Given the description of an element on the screen output the (x, y) to click on. 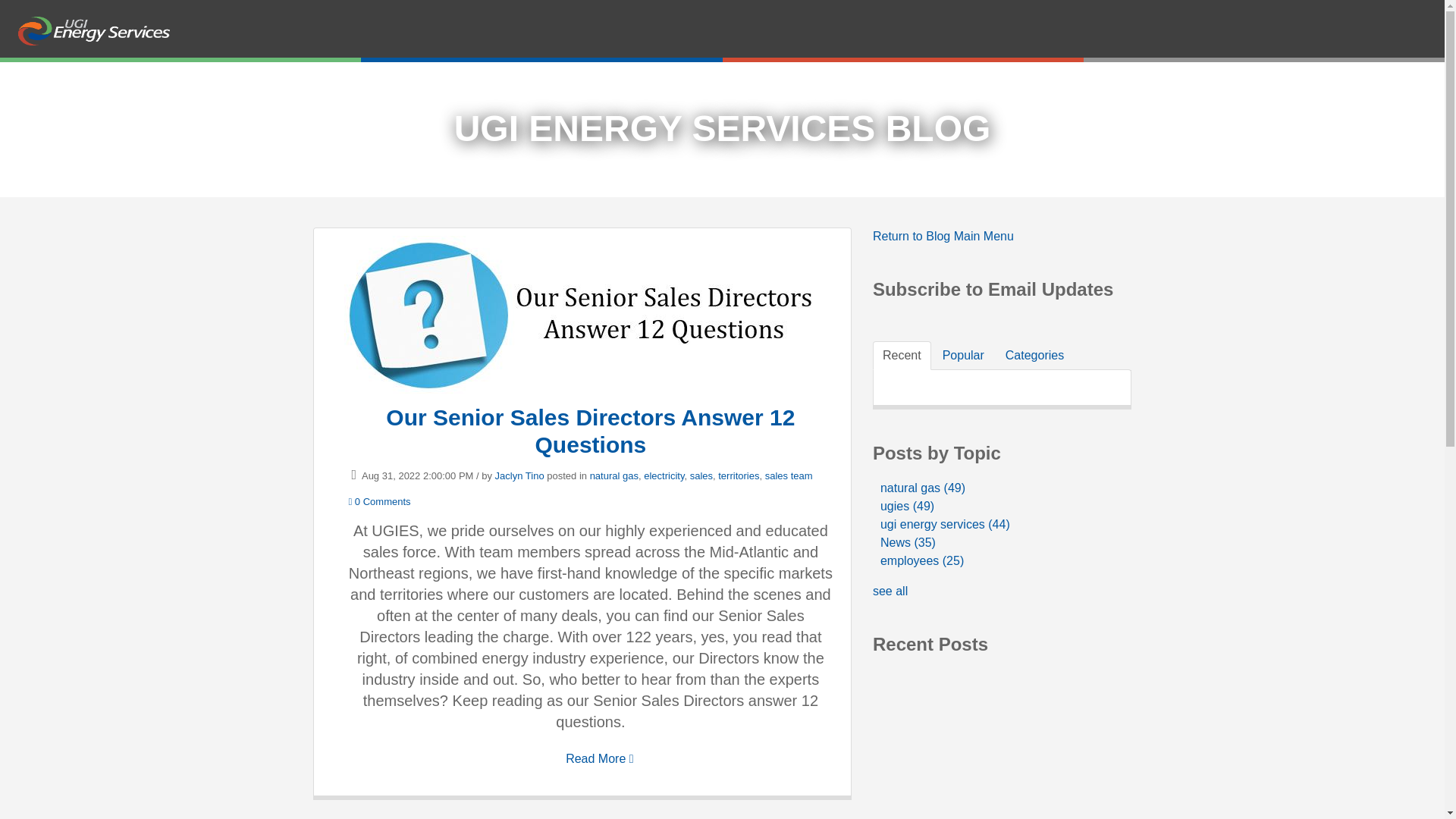
Popular (963, 355)
sales team (788, 475)
UGI Energy Services logo (93, 30)
Jaclyn Tino (519, 475)
Return to Blog Main Menu (942, 236)
electricity (663, 475)
Read More (599, 758)
territories (737, 475)
natural gas (614, 475)
Our Senior Sales Directors Answer 12 Questions (589, 430)
